Given the description of an element on the screen output the (x, y) to click on. 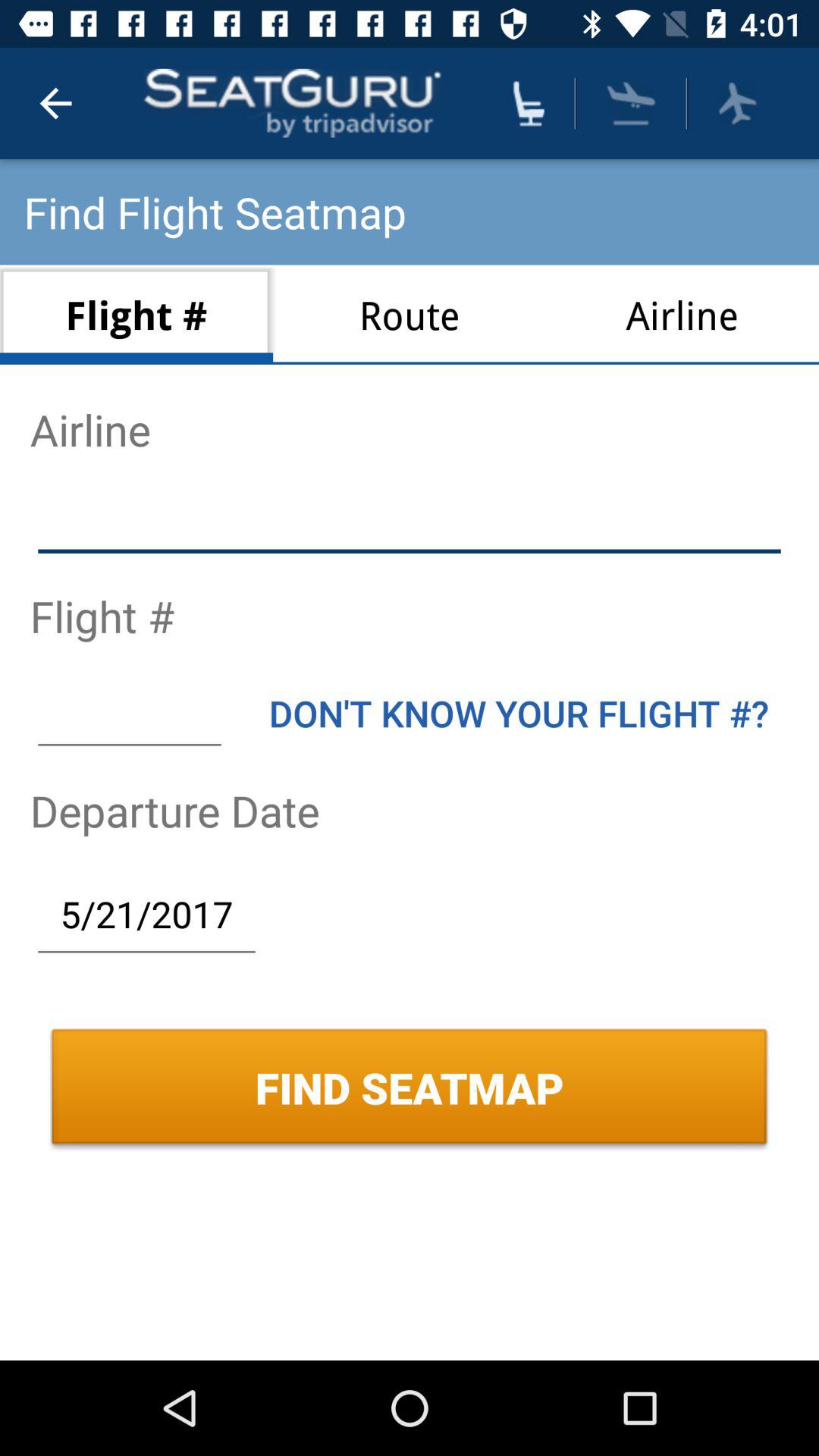
go to seat map (528, 103)
